Given the description of an element on the screen output the (x, y) to click on. 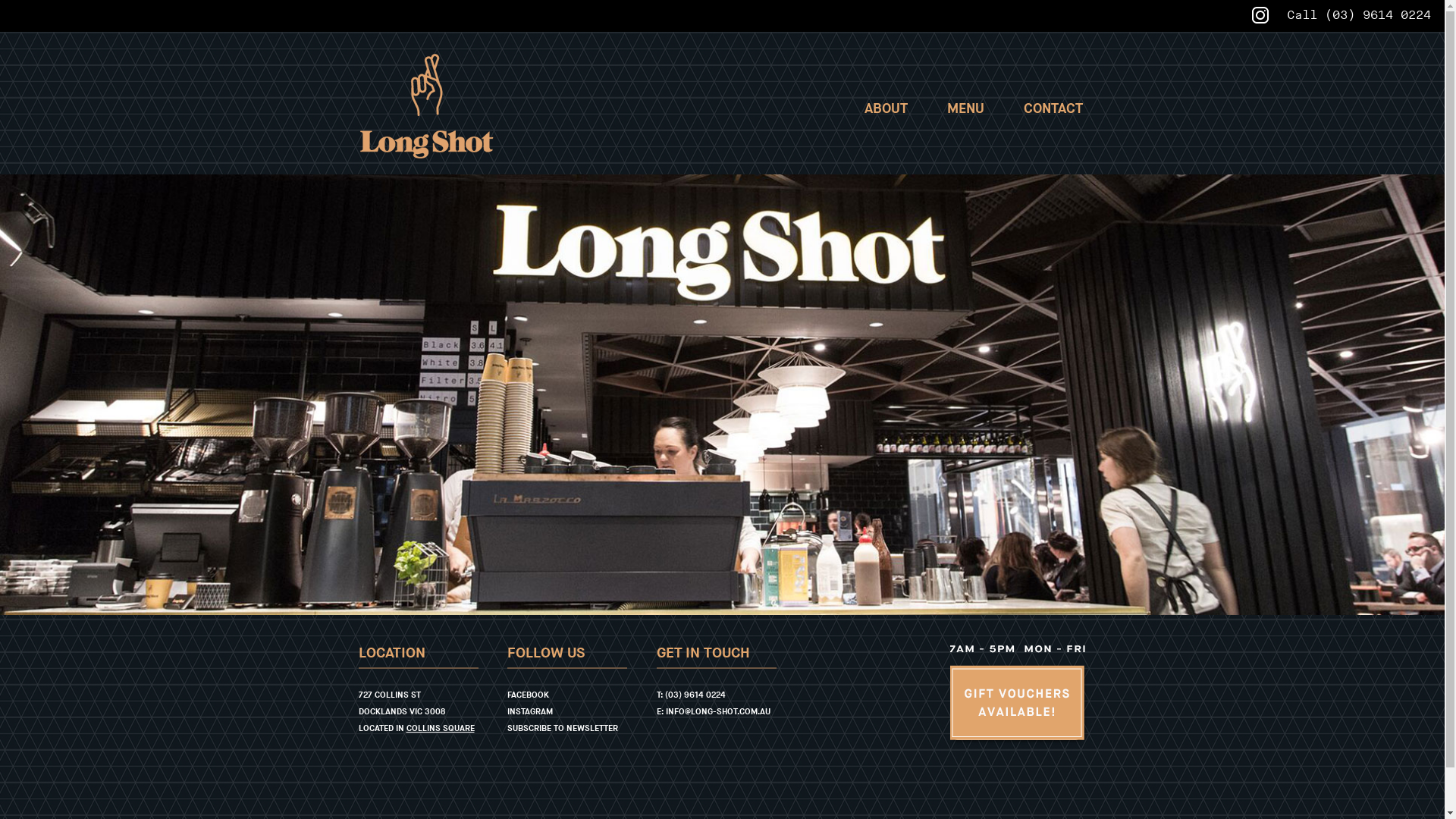
(03) 9614 0224 Element type: text (695, 694)
INSTAGRAM Element type: text (529, 711)
MENU Element type: text (965, 108)
SUBSCRIBE TO NEWSLETTER Element type: text (562, 728)
ABOUT Element type: text (885, 108)
COLLINS SQUARE Element type: text (440, 728)
INFO@LONG-SHOT.COM.AU Element type: text (717, 711)
Instagram Element type: text (1259, 14)
(03) 9614 0224 Element type: text (1377, 15)
LONG SHOT Element type: text (425, 106)
FACEBOOK Element type: text (528, 694)
CONTACT Element type: text (1052, 108)
